Given the description of an element on the screen output the (x, y) to click on. 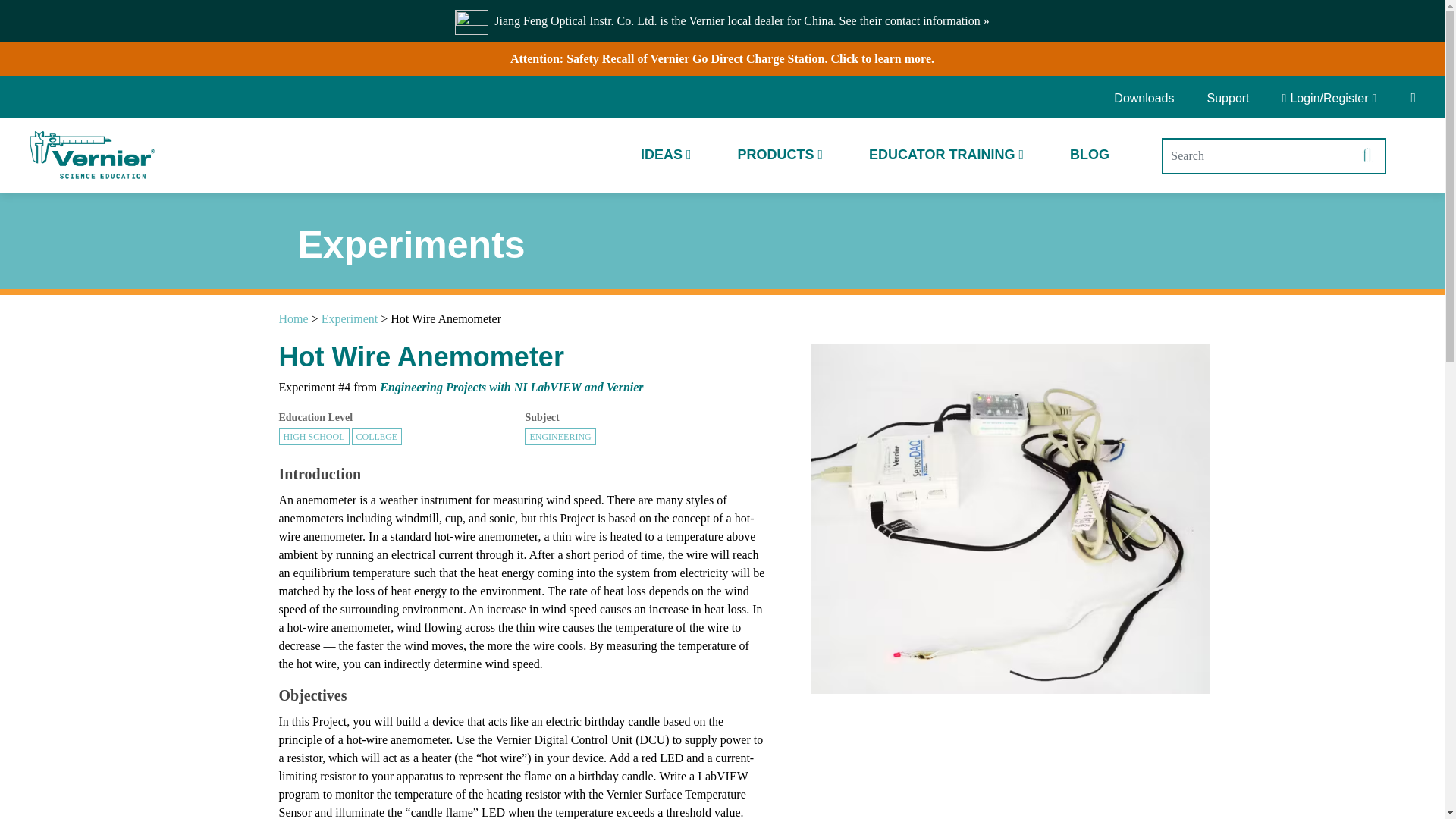
Support (1227, 98)
PRODUCTS (779, 154)
Vernier (90, 155)
IDEAS (665, 154)
Downloads (1149, 98)
